Given the description of an element on the screen output the (x, y) to click on. 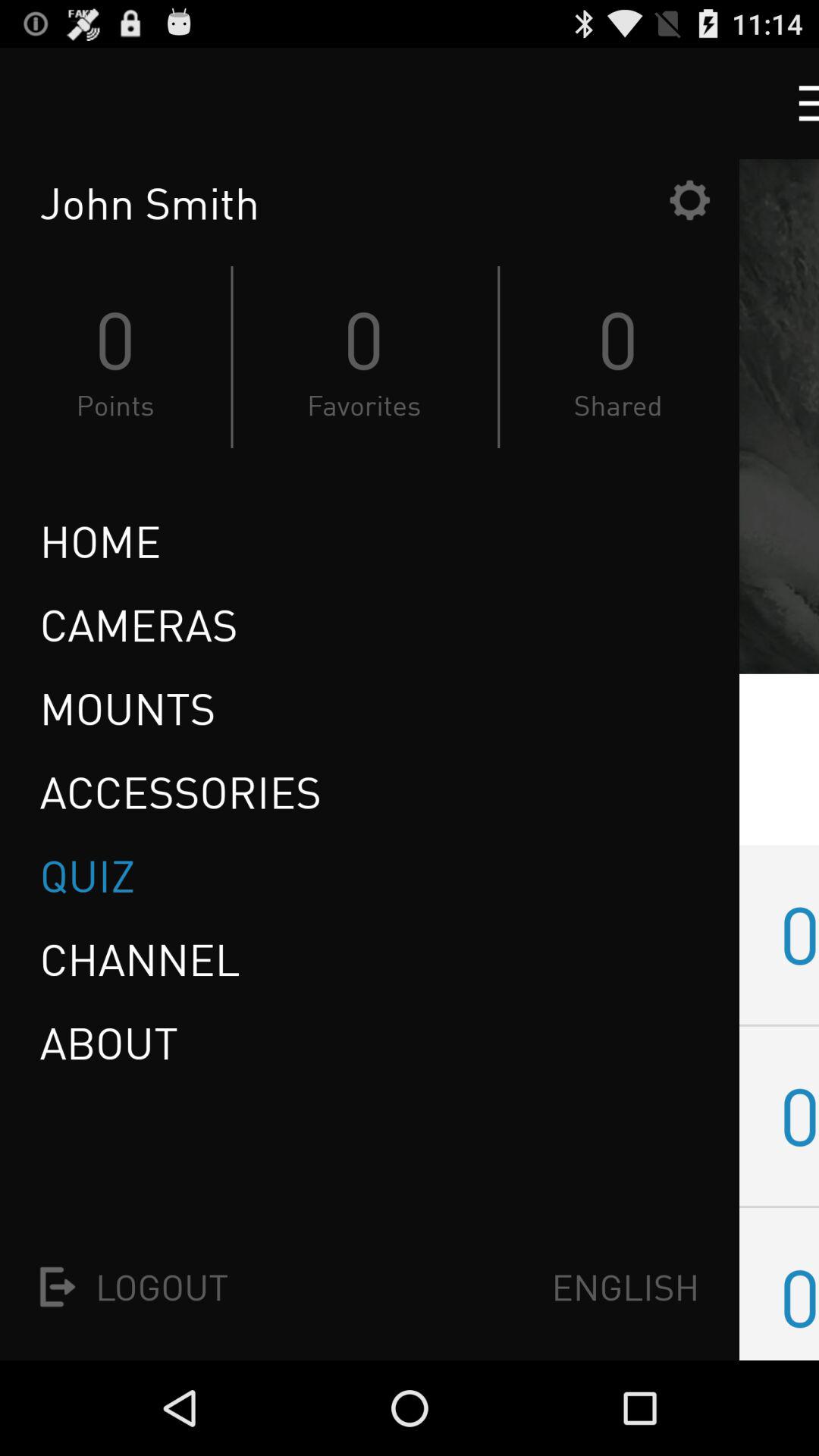
swipe to 01 item (799, 934)
